Given the description of an element on the screen output the (x, y) to click on. 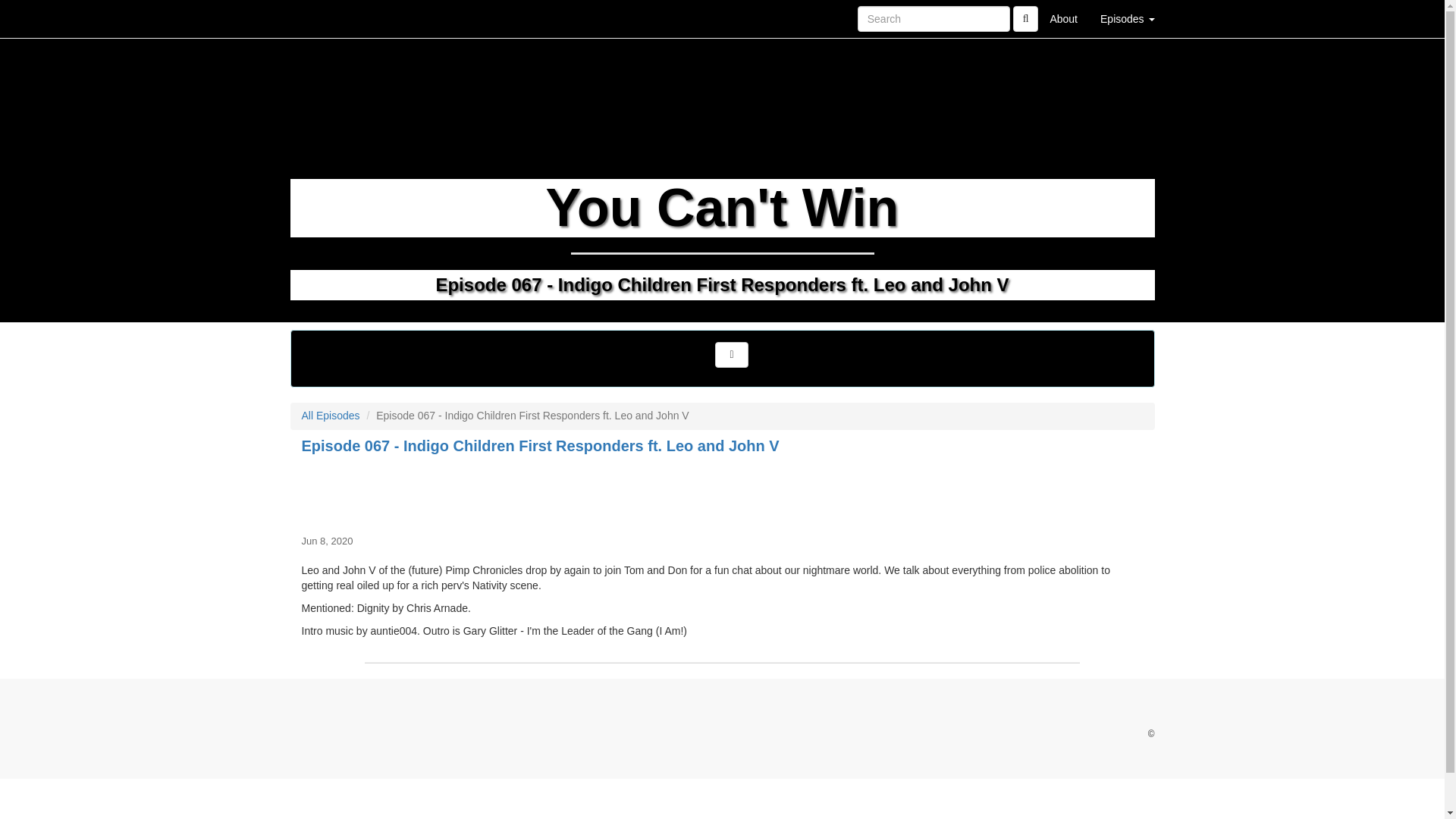
Home Page (320, 18)
Episodes (1127, 18)
About (1063, 18)
